Given the description of an element on the screen output the (x, y) to click on. 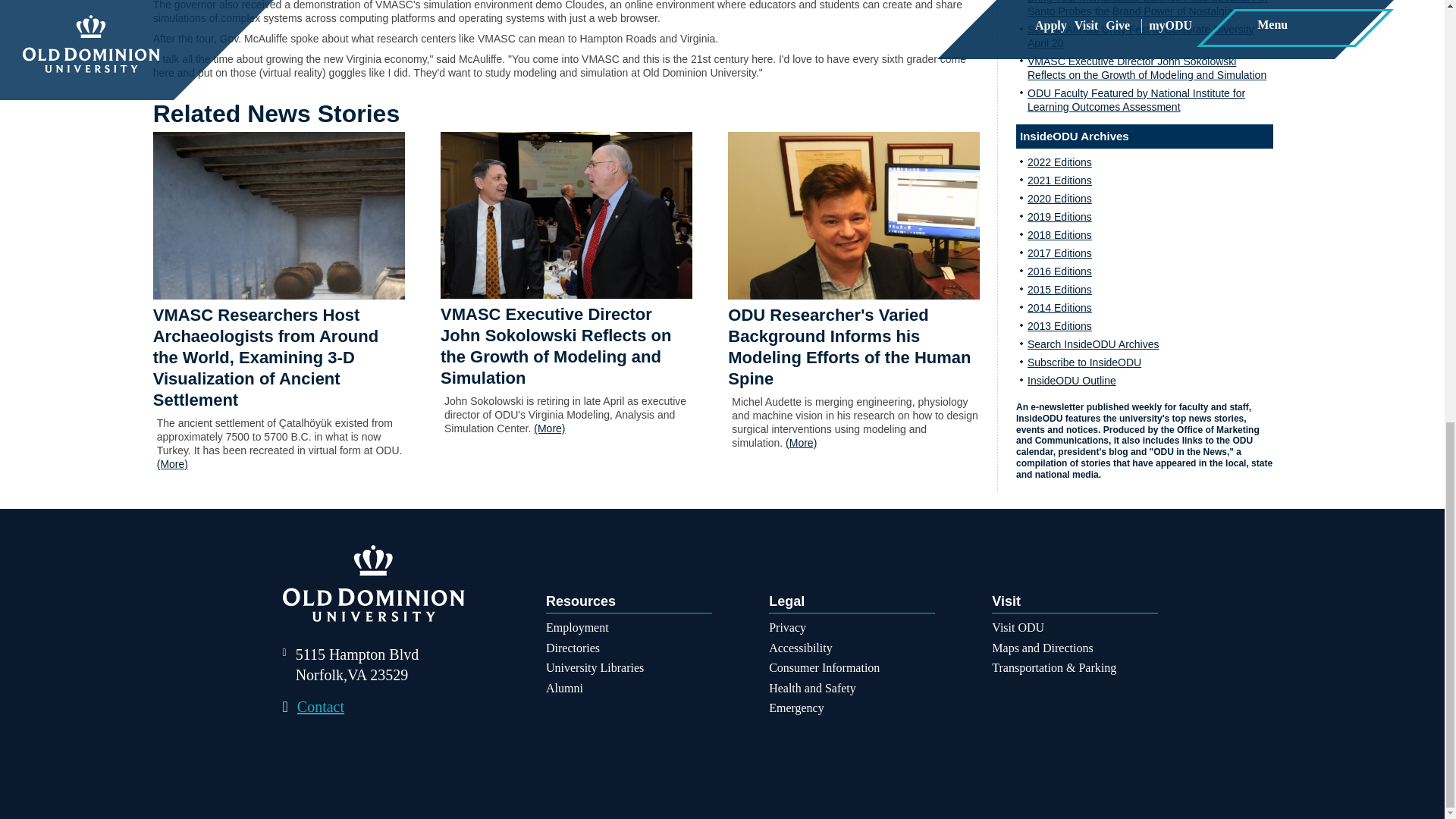
Michel Audette (853, 215)
religion project 1 (278, 215)
2022 Editions (1059, 162)
Second Annual Unity Fest to Celebrate Diversity April 20 (1140, 36)
Hampton Roads Economics Forecast (567, 214)
